Given the description of an element on the screen output the (x, y) to click on. 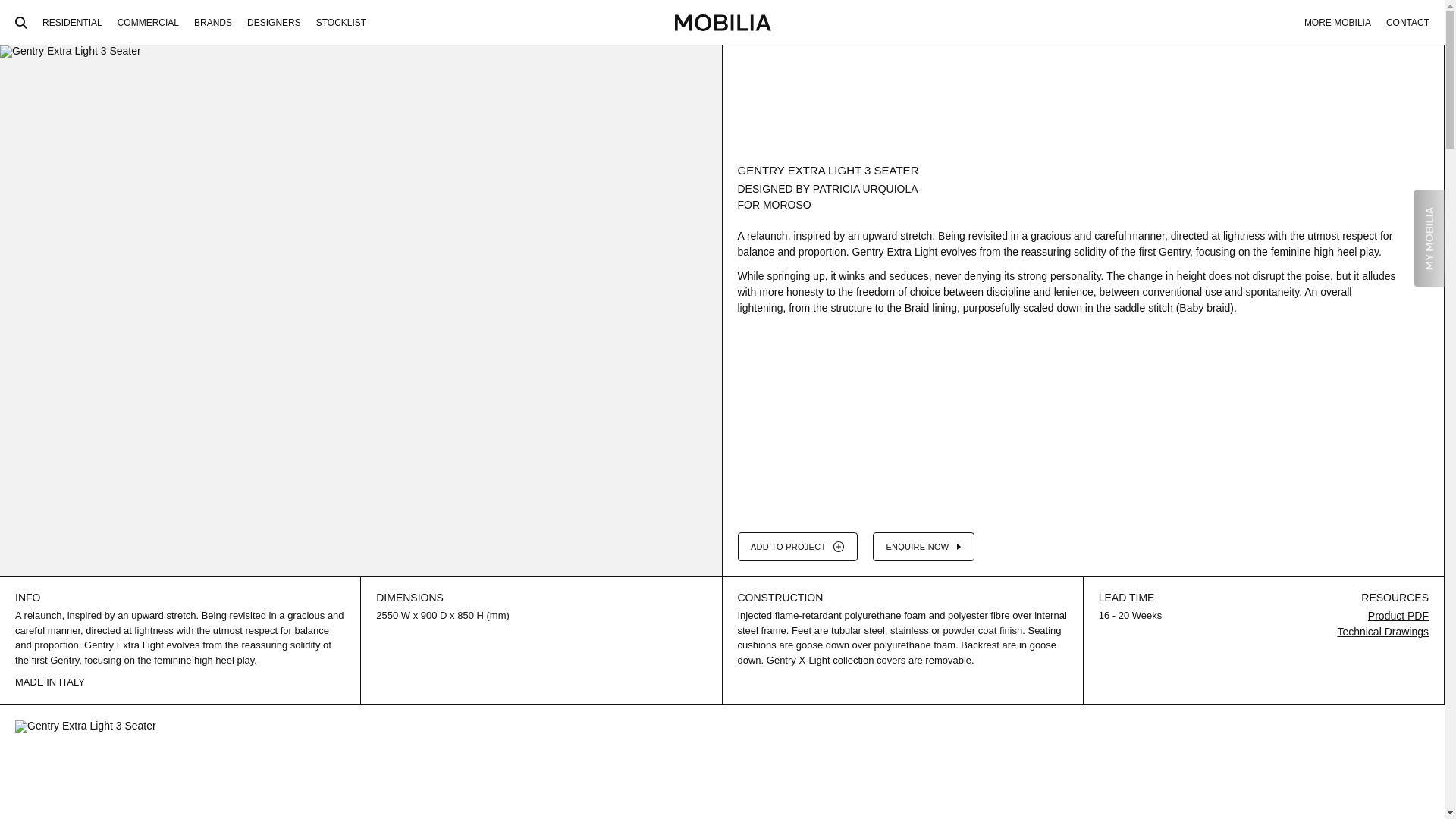
CONTACT (1407, 22)
STOCKLIST (341, 22)
Mobilia (722, 22)
MORE MOBILIA (1337, 22)
Contact (1407, 22)
Stocklist (341, 22)
More Mobilia (1337, 22)
